Given the description of an element on the screen output the (x, y) to click on. 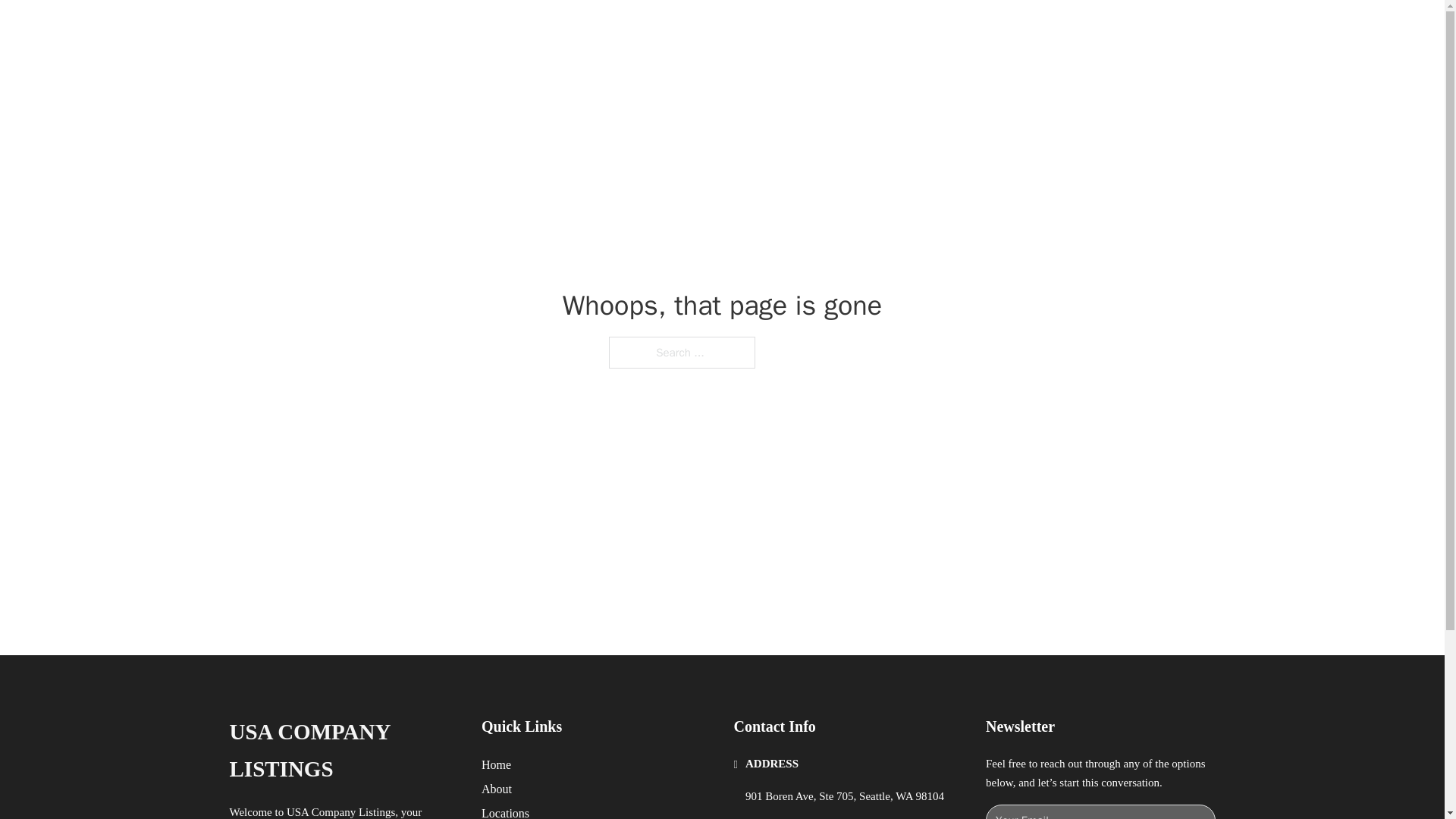
Locations (505, 811)
Home (496, 764)
USA COMPANY LISTINGS (431, 28)
About (496, 788)
HOME (919, 29)
USA COMPANY LISTINGS (343, 750)
LOCATIONS (990, 29)
